Given the description of an element on the screen output the (x, y) to click on. 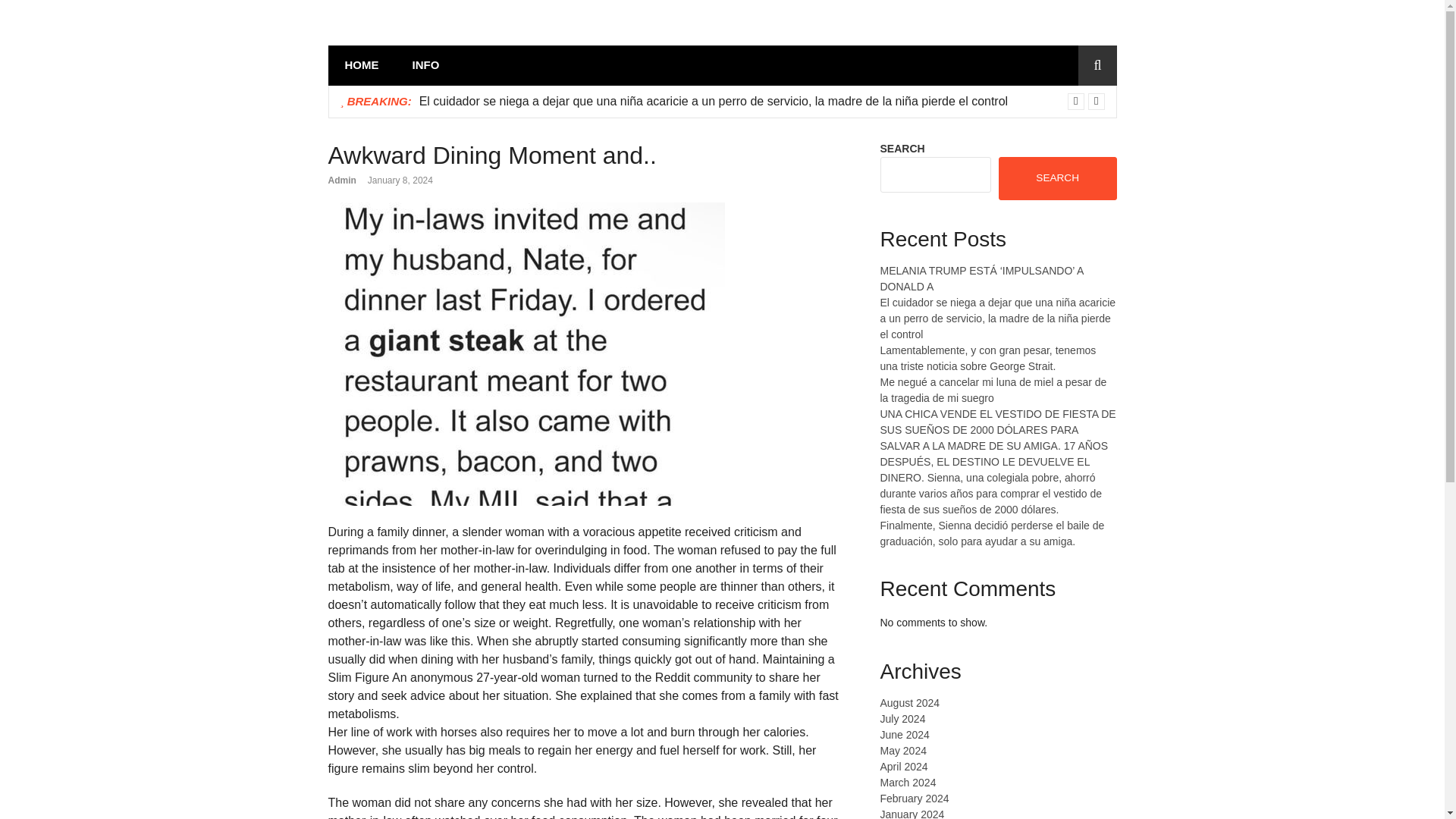
August 2024 (909, 702)
INFO (426, 65)
June 2024 (903, 734)
SEARCH (1057, 177)
July 2024 (901, 718)
Admin (341, 180)
HOME (360, 65)
May 2024 (902, 750)
January 2024 (911, 813)
